Given the description of an element on the screen output the (x, y) to click on. 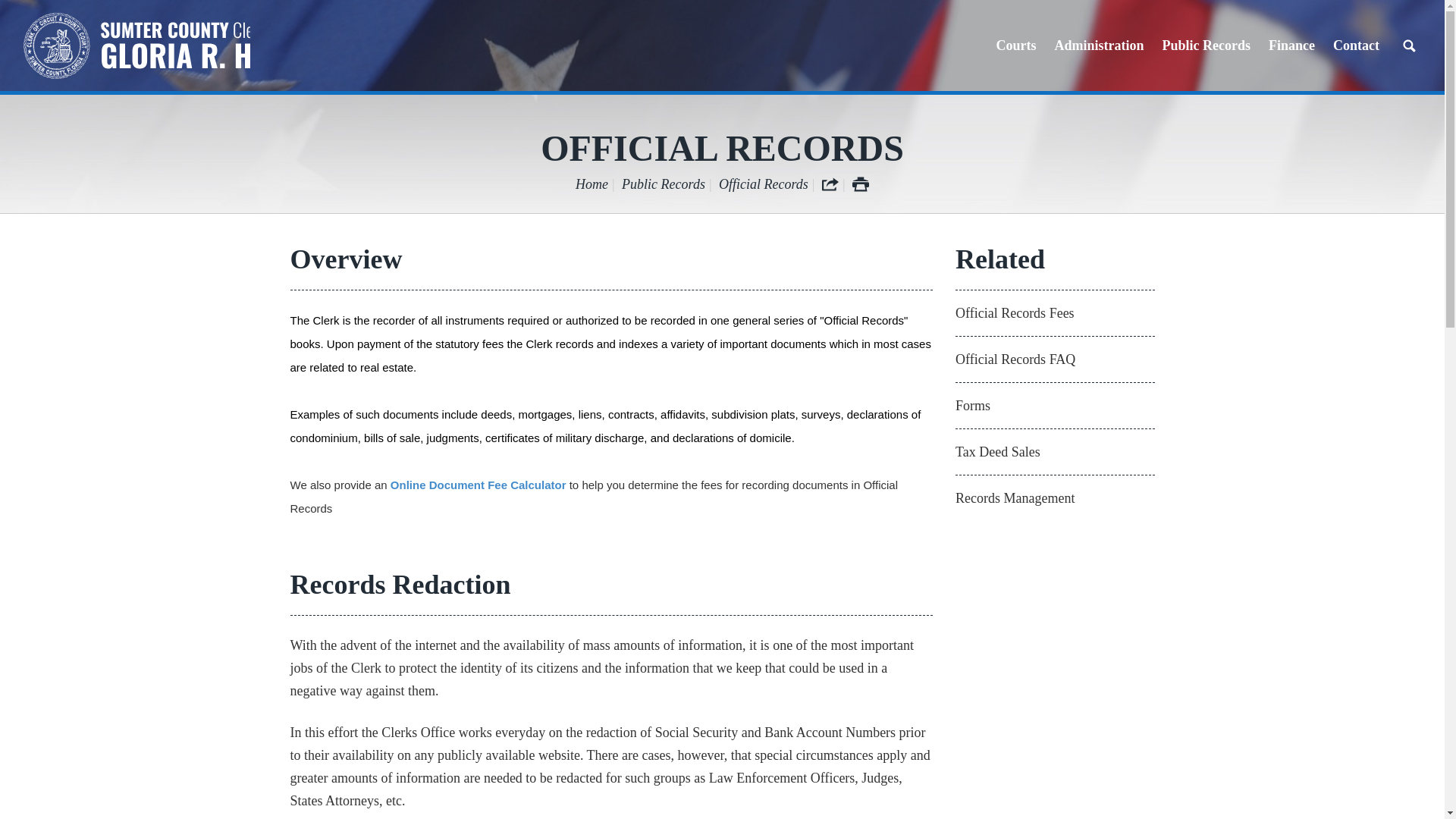
Sharing Widget (830, 184)
Finance (1291, 45)
Public Records (1206, 45)
Contact (1356, 45)
Courts (1016, 45)
Administration (1099, 45)
SUMTER COUNTY CLERK OF COURTS (136, 45)
Print Page (860, 184)
